Given the description of an element on the screen output the (x, y) to click on. 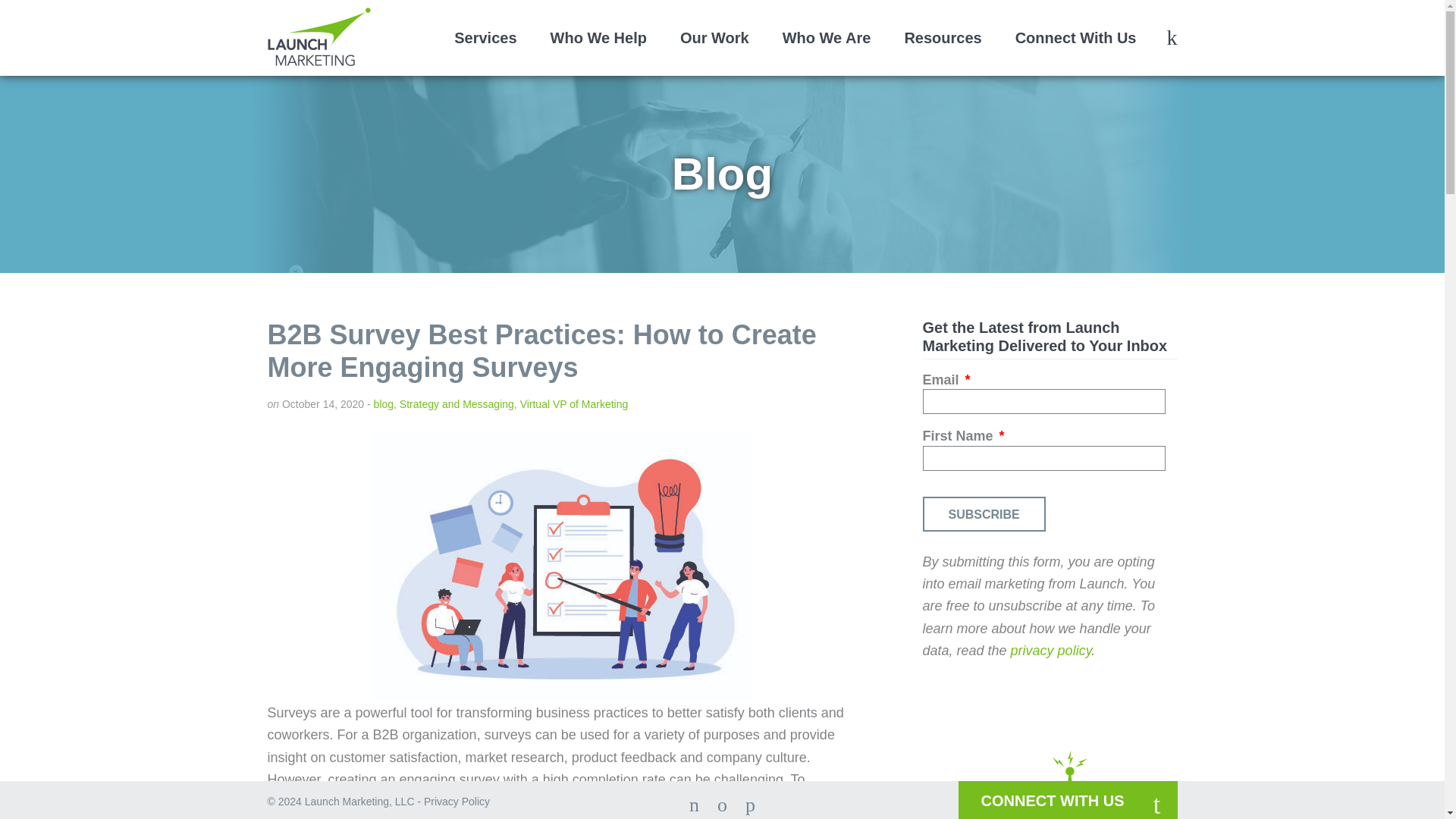
Launch Marketing (317, 36)
Subscribe (983, 513)
Resources (942, 39)
Who We Are (826, 39)
Who We Help (598, 39)
Our Work (714, 39)
Services (485, 39)
